Given the description of an element on the screen output the (x, y) to click on. 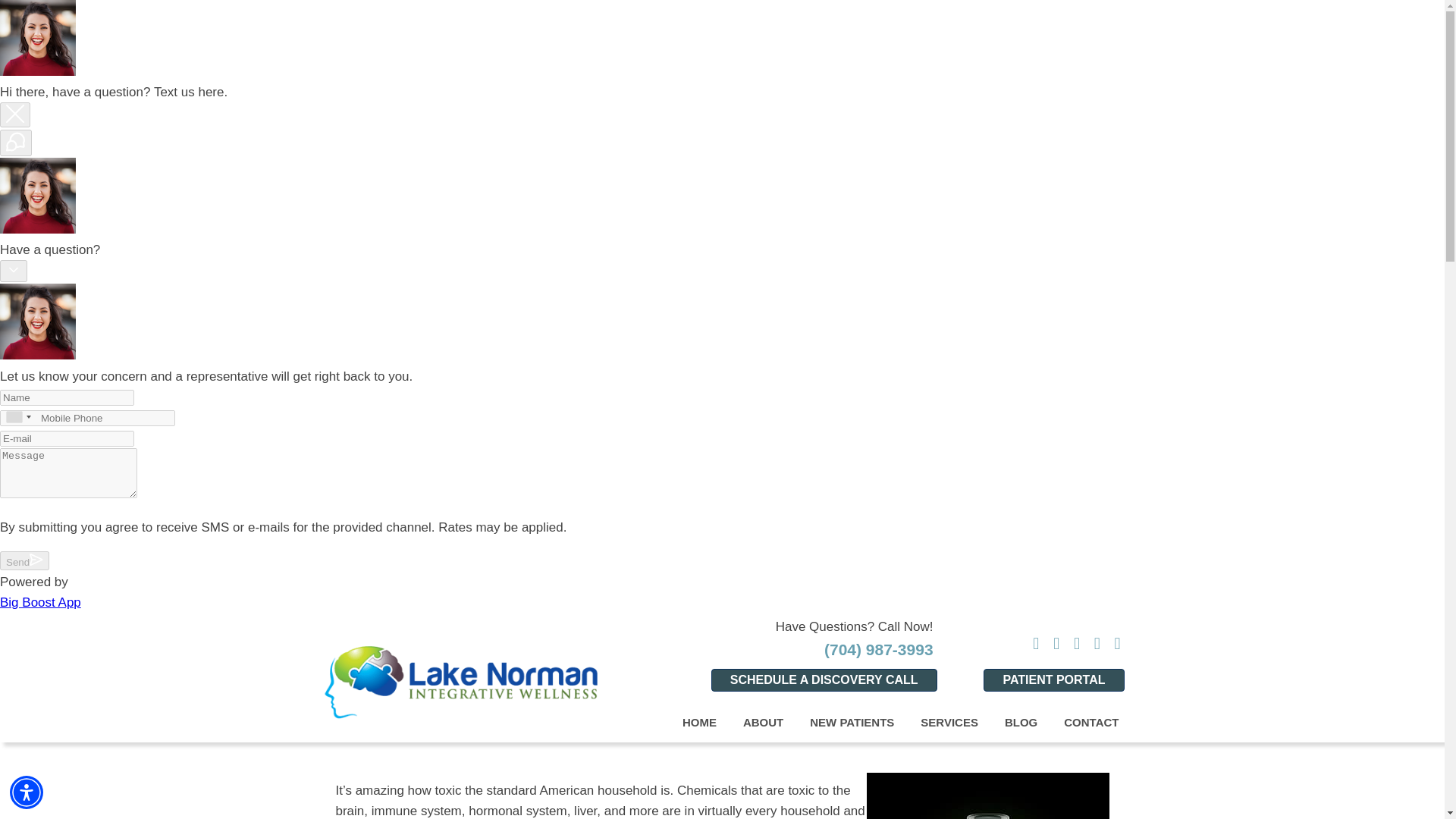
Lake-Norman-Integrative-Wellness (459, 681)
Accessibility Menu (26, 792)
health effects household chemicals copy.jpg (987, 796)
